Given the description of an element on the screen output the (x, y) to click on. 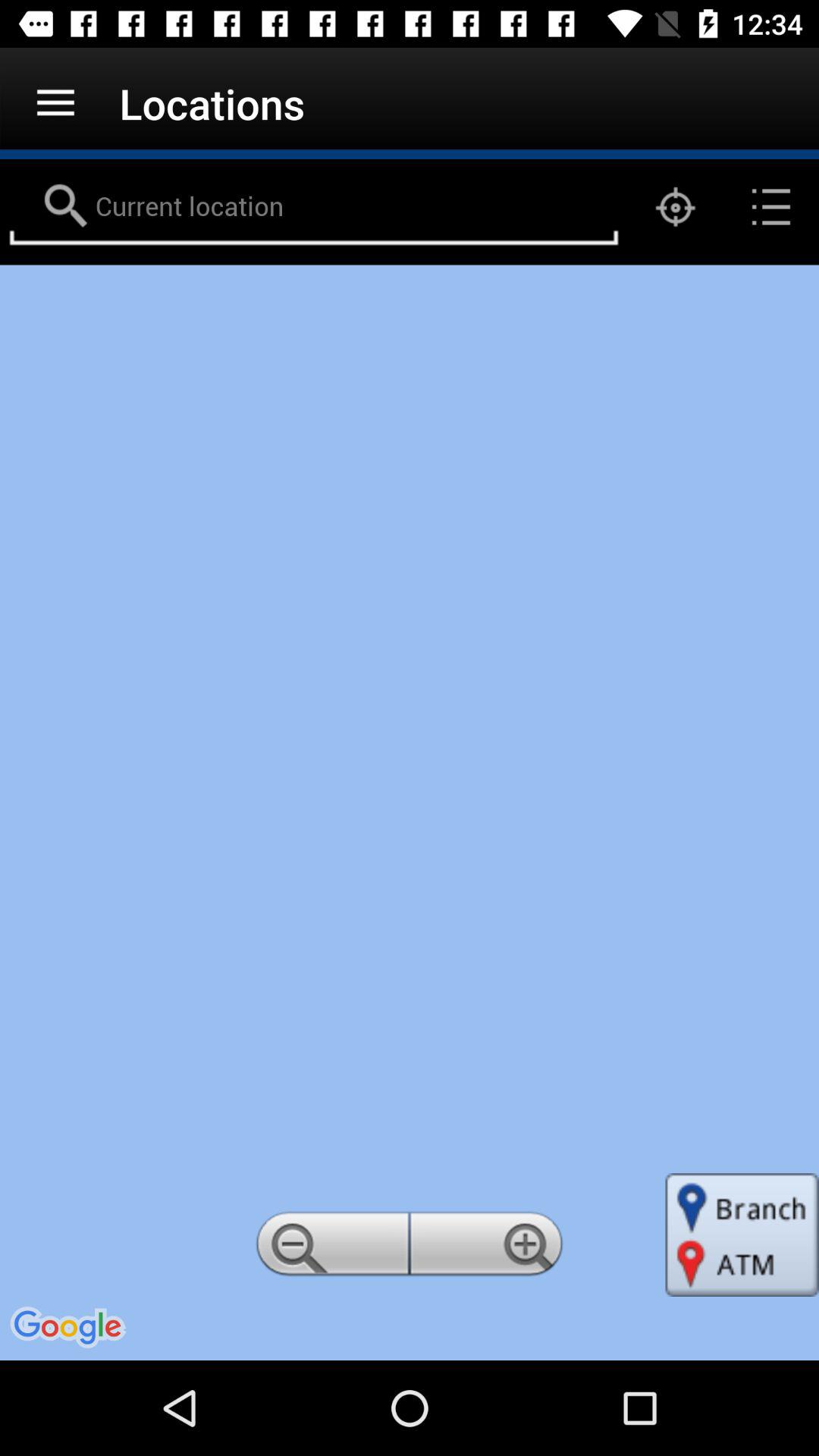
current location area (313, 206)
